Given the description of an element on the screen output the (x, y) to click on. 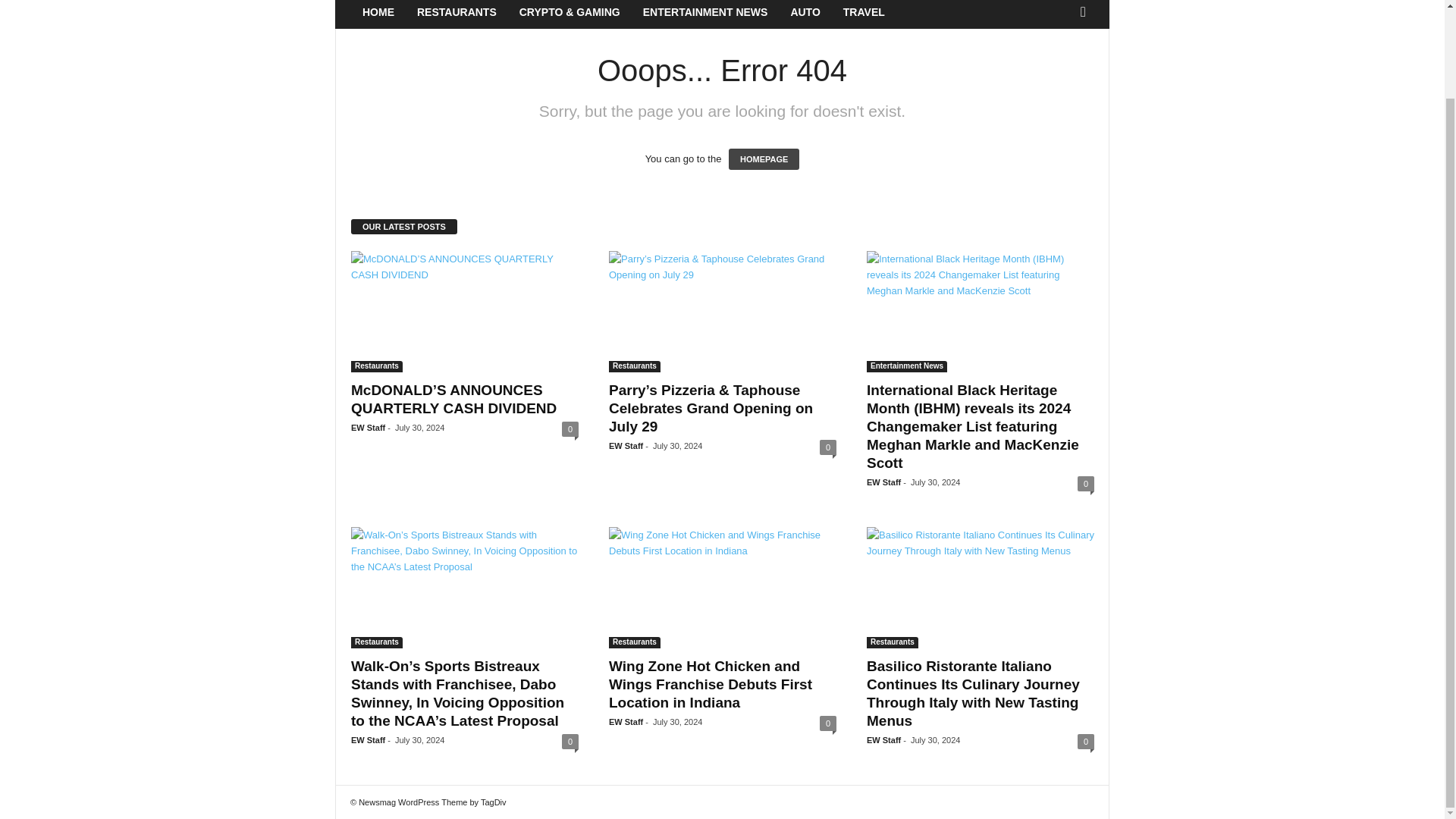
EW Staff (367, 739)
RESTAURANTS (457, 14)
EW Staff (625, 445)
EW Staff (883, 481)
Restaurants (376, 642)
Restaurants (634, 366)
HOME (378, 14)
0 (1085, 483)
0 (827, 447)
AUTO (804, 14)
0 (570, 741)
EW Staff (367, 427)
HOMEPAGE (764, 158)
Restaurants (376, 366)
